Given the description of an element on the screen output the (x, y) to click on. 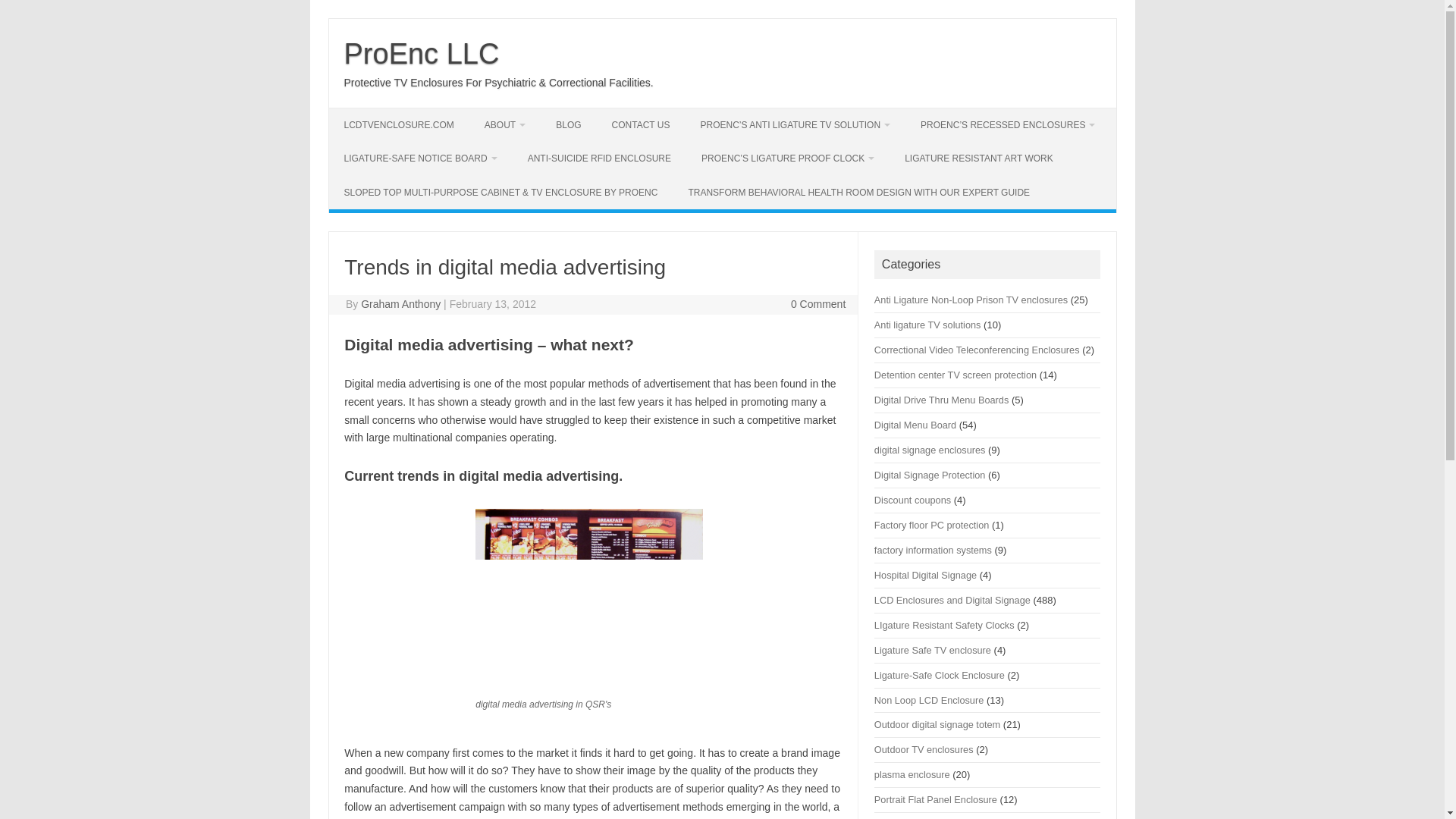
Graham Anthony (401, 304)
0 Comment (817, 304)
digitalmediaadvertising (589, 588)
Posts by Graham Anthony (401, 304)
ProEnc LLC (421, 53)
CONTACT US (640, 124)
LIGATURE-SAFE NOTICE BOARD (420, 158)
ProEnc LLC (421, 53)
BLOG (567, 124)
